Given the description of an element on the screen output the (x, y) to click on. 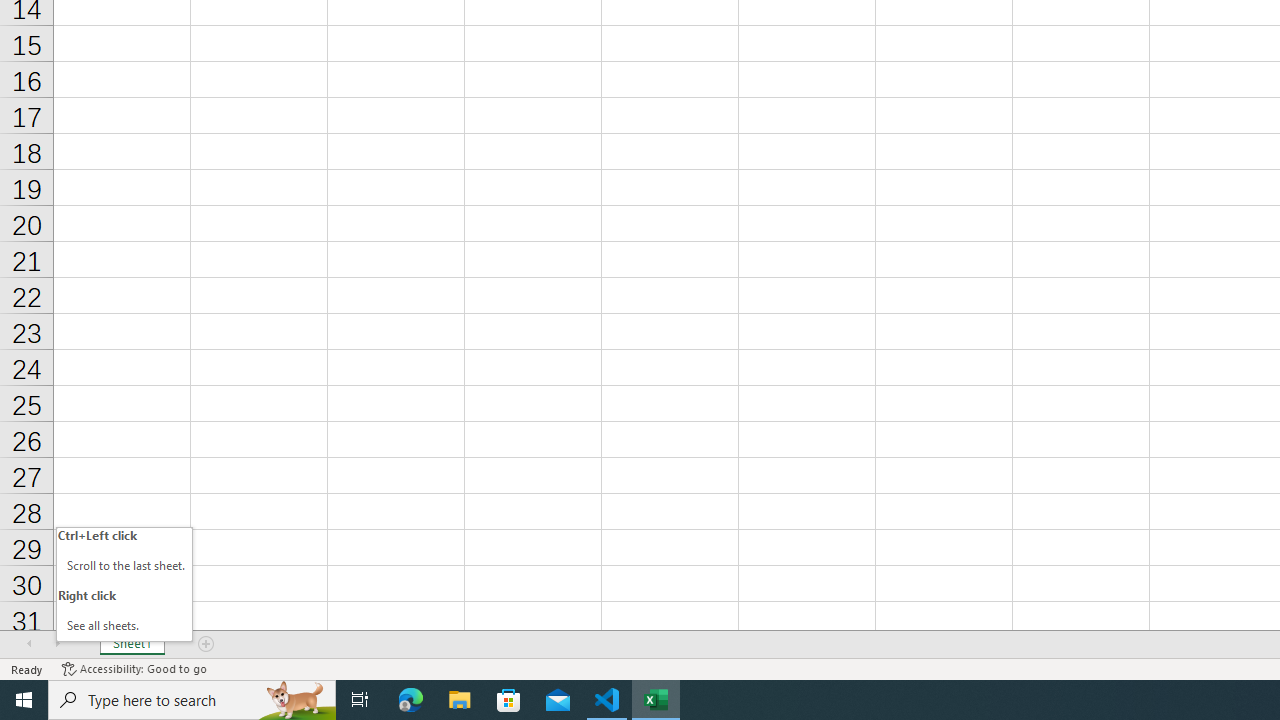
Add Sheet (207, 644)
Scroll Right (57, 644)
Scroll Left (29, 644)
Sheet1 (132, 644)
Accessibility Checker Accessibility: Good to go (134, 668)
